Given the description of an element on the screen output the (x, y) to click on. 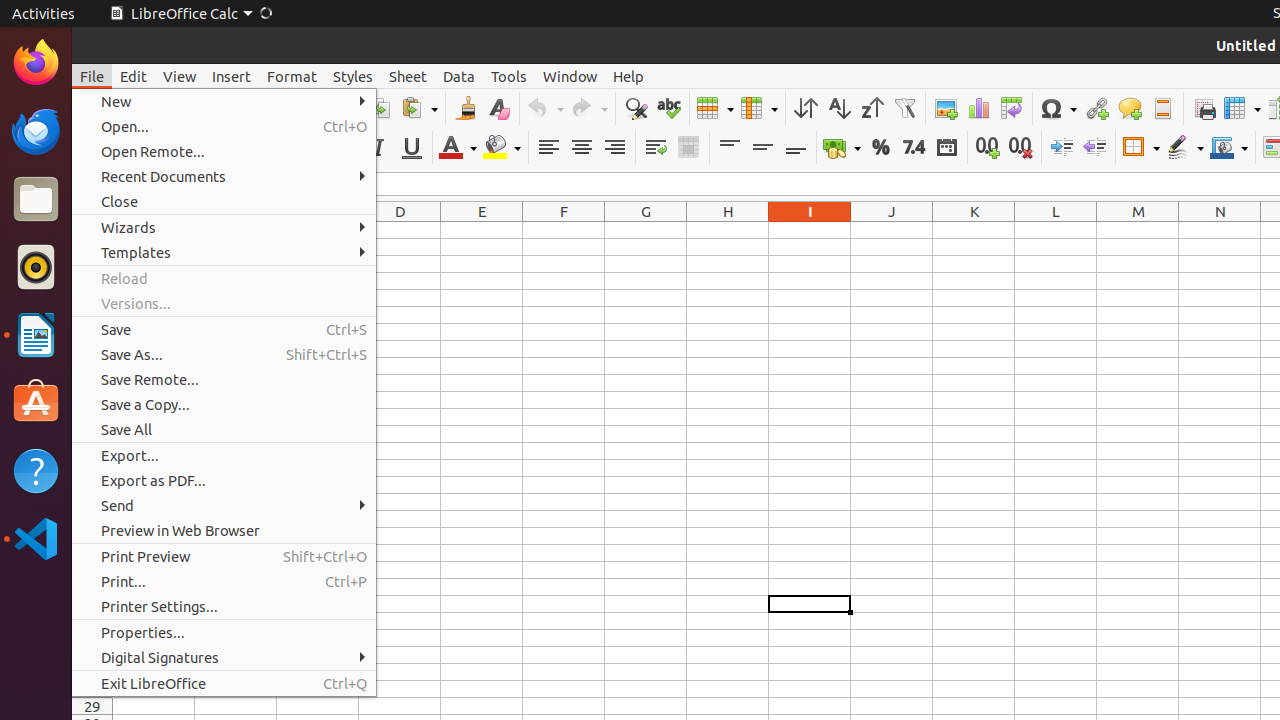
Window Element type: menu (570, 76)
Center Vertically Element type: push-button (762, 147)
L1 Element type: table-cell (1056, 230)
Column Element type: push-button (759, 108)
Edit Element type: menu (133, 76)
